Given the description of an element on the screen output the (x, y) to click on. 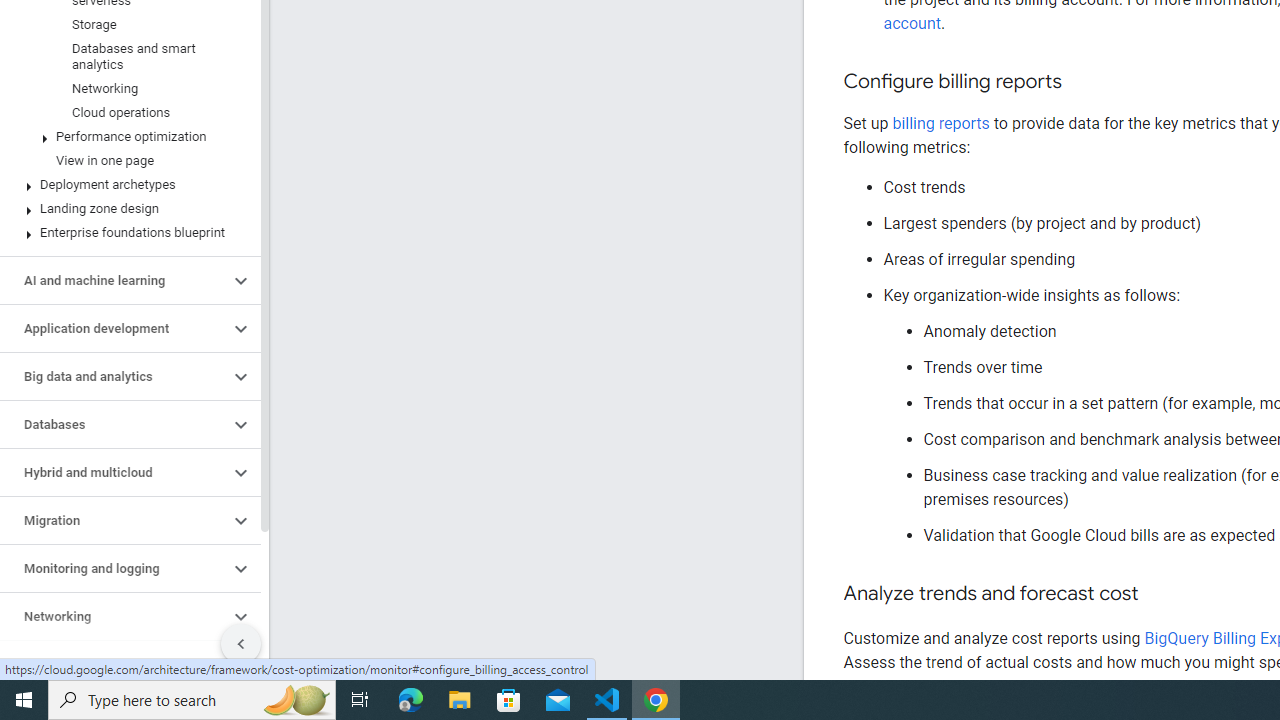
Migration (114, 520)
billing reports (940, 123)
Application development (114, 328)
Hide side navigation (241, 643)
Databases and smart analytics (126, 56)
Performance optimization (126, 137)
Landing zone design (126, 209)
Networking (114, 616)
View in one page (126, 160)
Hybrid and multicloud (114, 472)
Storage (126, 24)
Monitoring and logging (114, 569)
Cloud operations (126, 112)
Networking (126, 88)
Enterprise foundations blueprint (126, 232)
